Given the description of an element on the screen output the (x, y) to click on. 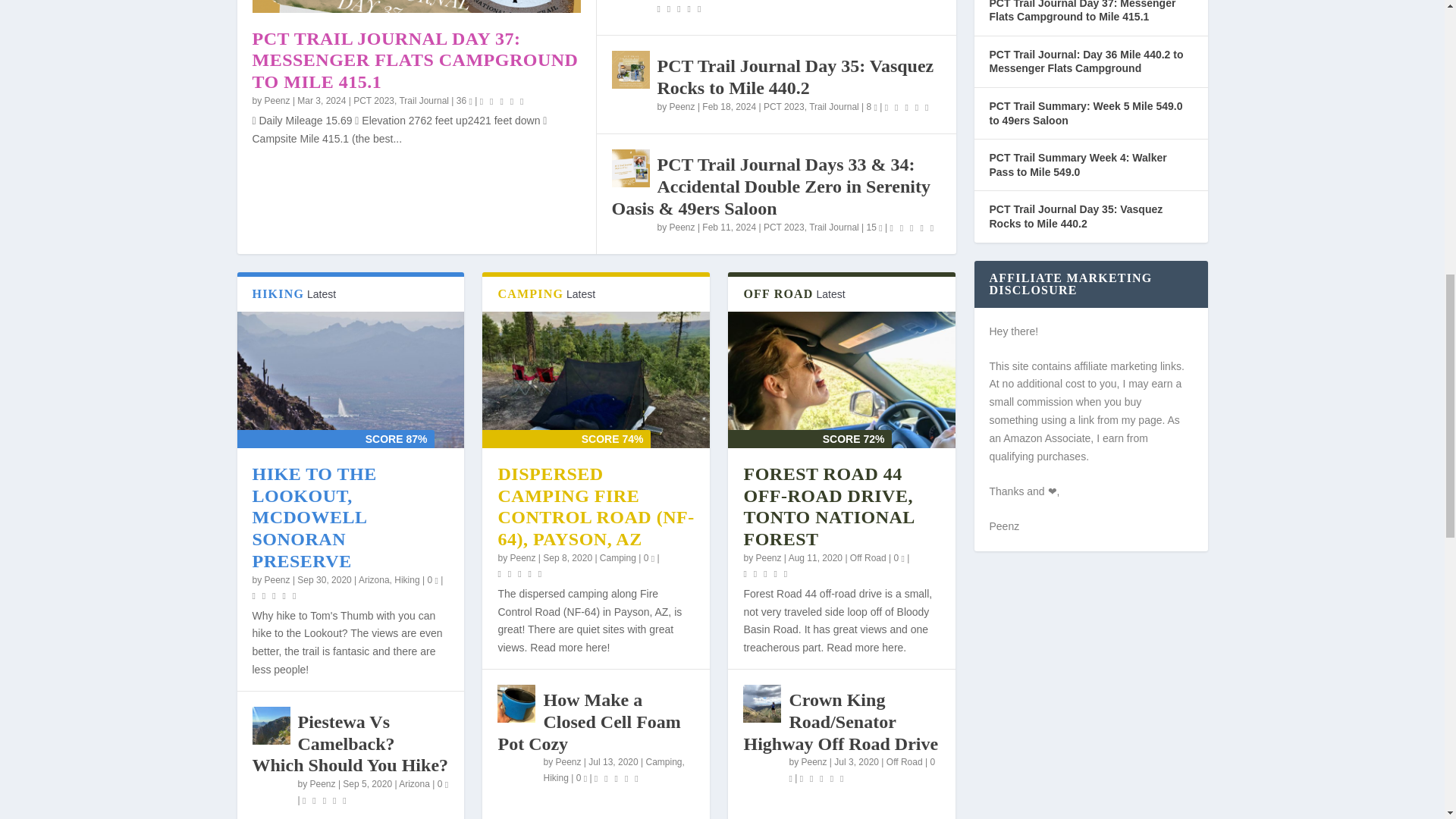
PCT 2023 (373, 100)
Posts by Peenz (682, 106)
Rating: 0.00 (503, 100)
Trail Journal (423, 100)
PCT Trail Journal Day 35: Vasquez Rocks to Mile 440.2 (630, 69)
Rating: 0.00 (680, 7)
Peenz (276, 100)
